Given the description of an element on the screen output the (x, y) to click on. 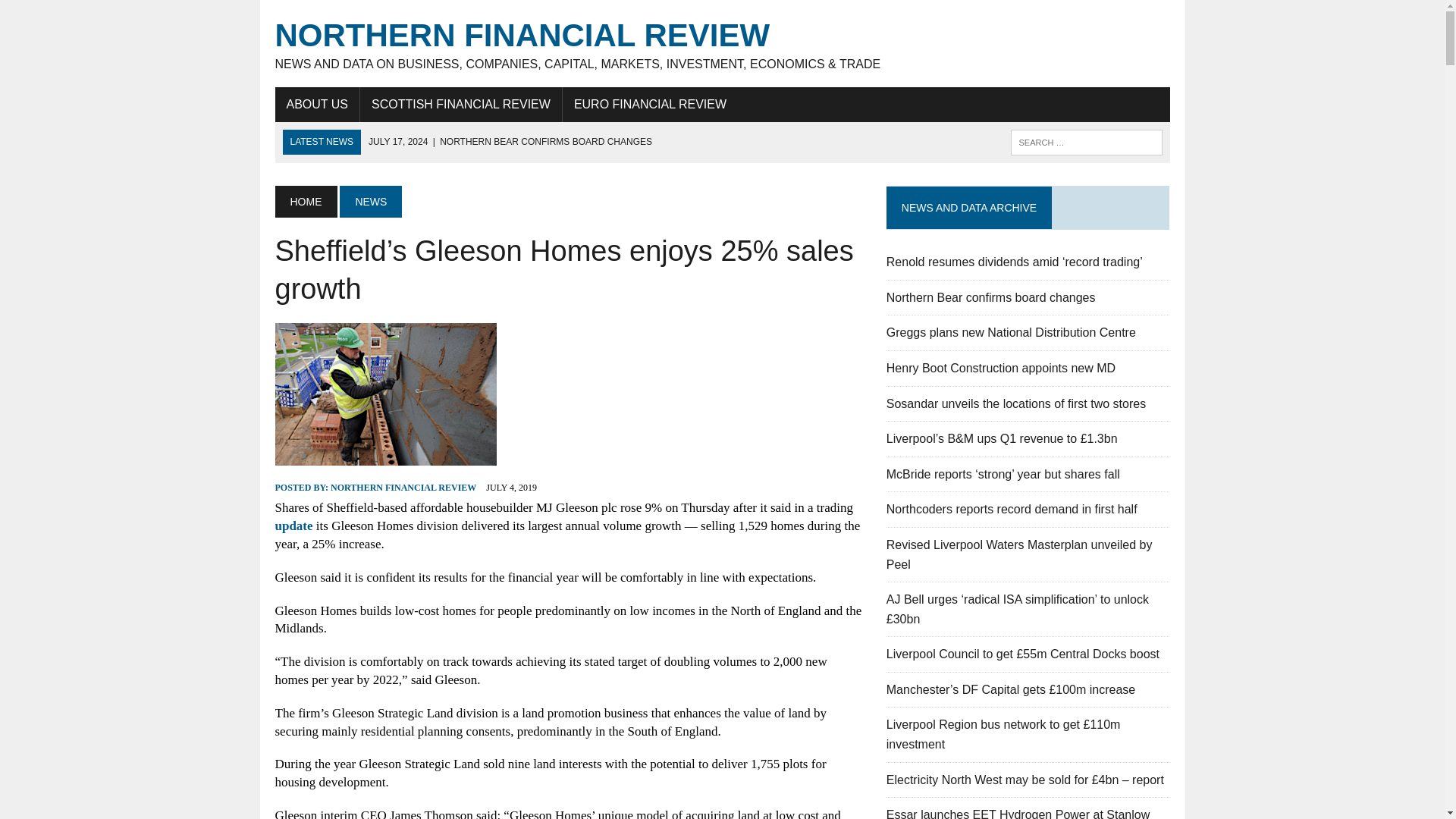
ABOUT US (317, 104)
Northern Financial Review (722, 43)
Search (75, 14)
Northcoders reports record demand in first half (1011, 508)
Greggs plans new National Distribution Centre (1010, 332)
HOME (305, 201)
SCOTTISH FINANCIAL REVIEW (460, 104)
Henry Boot Construction appoints new MD (1000, 367)
Sosandar unveils the locations of first two stores (1015, 403)
Revised Liverpool Waters Masterplan unveiled by Peel (1019, 554)
update (294, 525)
EURO FINANCIAL REVIEW (650, 104)
Northern Bear confirms board changes (991, 297)
Northern Bear confirms board changes (991, 297)
Northern Bear confirms board changes (510, 141)
